Given the description of an element on the screen output the (x, y) to click on. 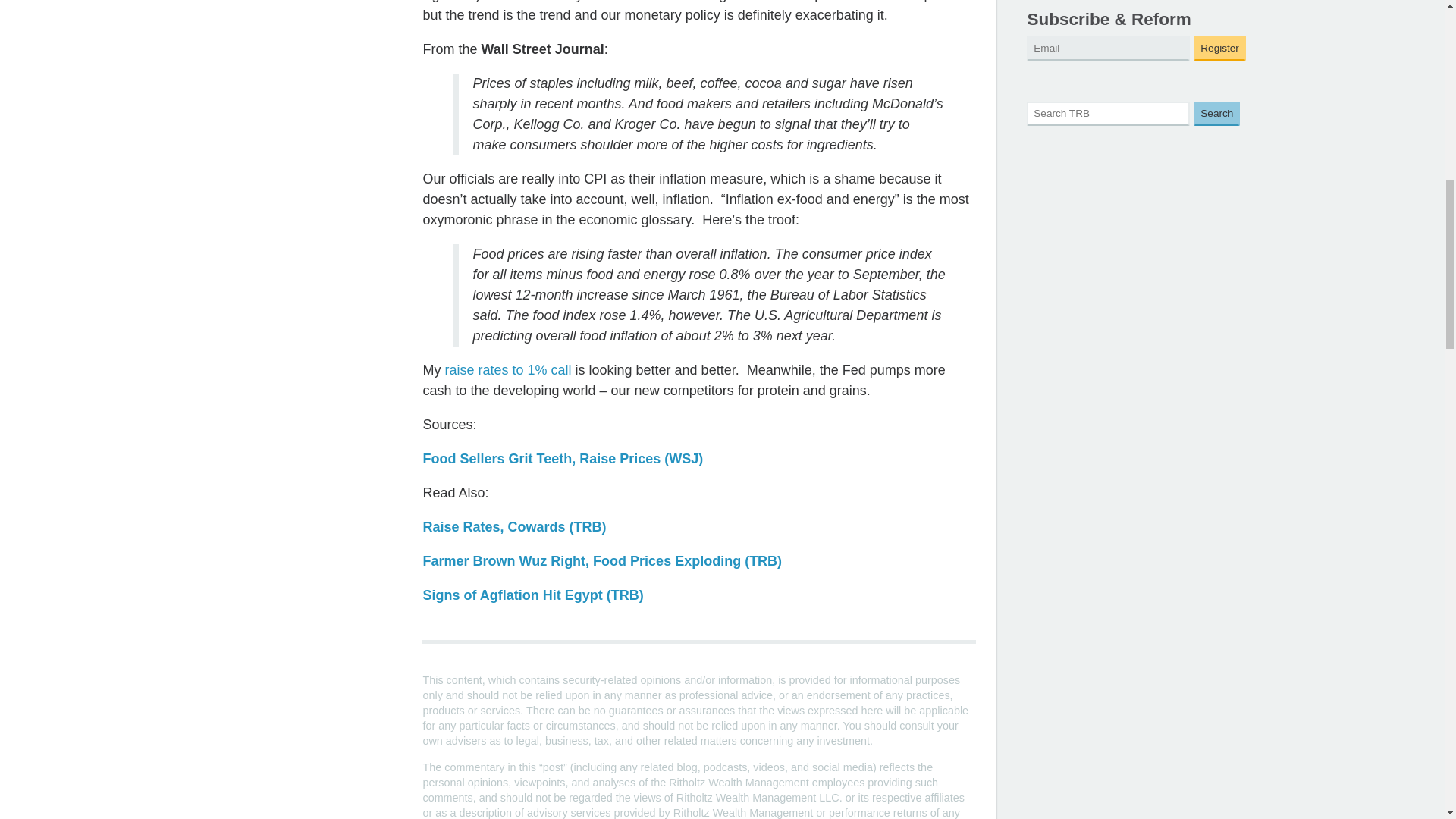
Register (1218, 48)
Search (1216, 113)
